Given the description of an element on the screen output the (x, y) to click on. 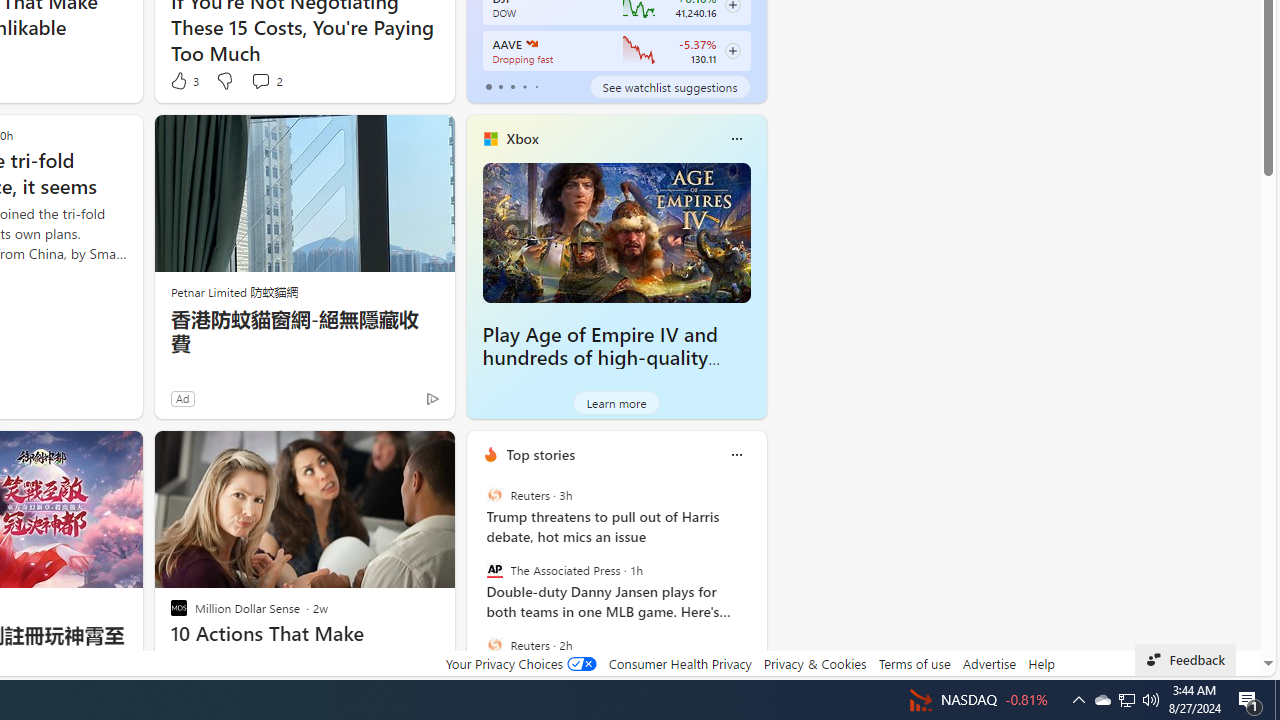
Xbox (521, 139)
previous (476, 583)
tab-2 (511, 86)
Learn more (616, 402)
tab-1 (500, 86)
next (756, 583)
tab-4 (535, 86)
Privacy & Cookies (814, 663)
